Given the description of an element on the screen output the (x, y) to click on. 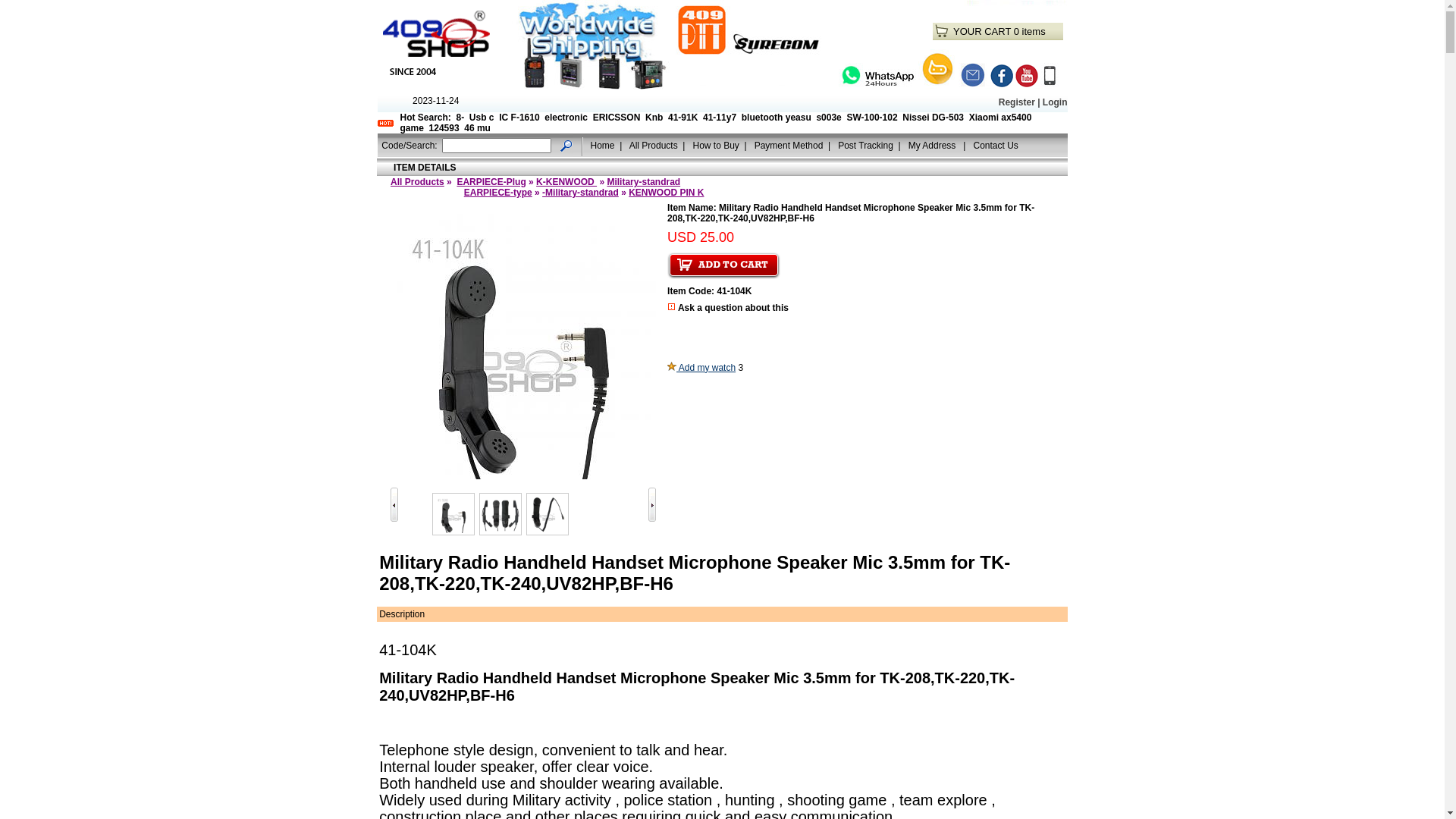
Payment Method Element type: text (788, 144)
124593 Element type: text (444, 127)
-Military-standrad Element type: text (580, 192)
How to Buy Element type: text (715, 144)
Post Tracking Element type: text (865, 144)
Register Element type: text (1016, 102)
All Products Element type: text (653, 144)
bluetooth yeasu Element type: text (776, 117)
Nissei DG-503 Element type: text (932, 117)
Login Element type: text (1054, 102)
My Address Element type: text (933, 144)
EARPIECE-Plug Element type: text (490, 181)
 Add my watch Element type: text (701, 367)
K-KENWOOD Element type: text (566, 181)
IC F-1610 Element type: text (518, 117)
ERICSSON Element type: text (616, 117)
Military-standrad Element type: text (643, 181)
YOUR CART 0 items Element type: text (999, 31)
Ask a question about this Element type: text (732, 307)
s003e Element type: text (827, 117)
Knb Element type: text (653, 117)
8- Element type: text (460, 117)
41-11y7 Element type: text (719, 117)
Contact Us Element type: text (994, 144)
Usb c Element type: text (481, 117)
electronic Element type: text (565, 117)
46 mu Element type: text (477, 127)
41-91K Element type: text (682, 117)
All Products Element type: text (417, 181)
SW-100-102 Element type: text (871, 117)
Home Element type: text (602, 144)
KENWOOD PIN K Element type: text (665, 192)
EARPIECE-type Element type: text (498, 192)
Xiaomi ax5400 game Element type: text (716, 122)
